Given the description of an element on the screen output the (x, y) to click on. 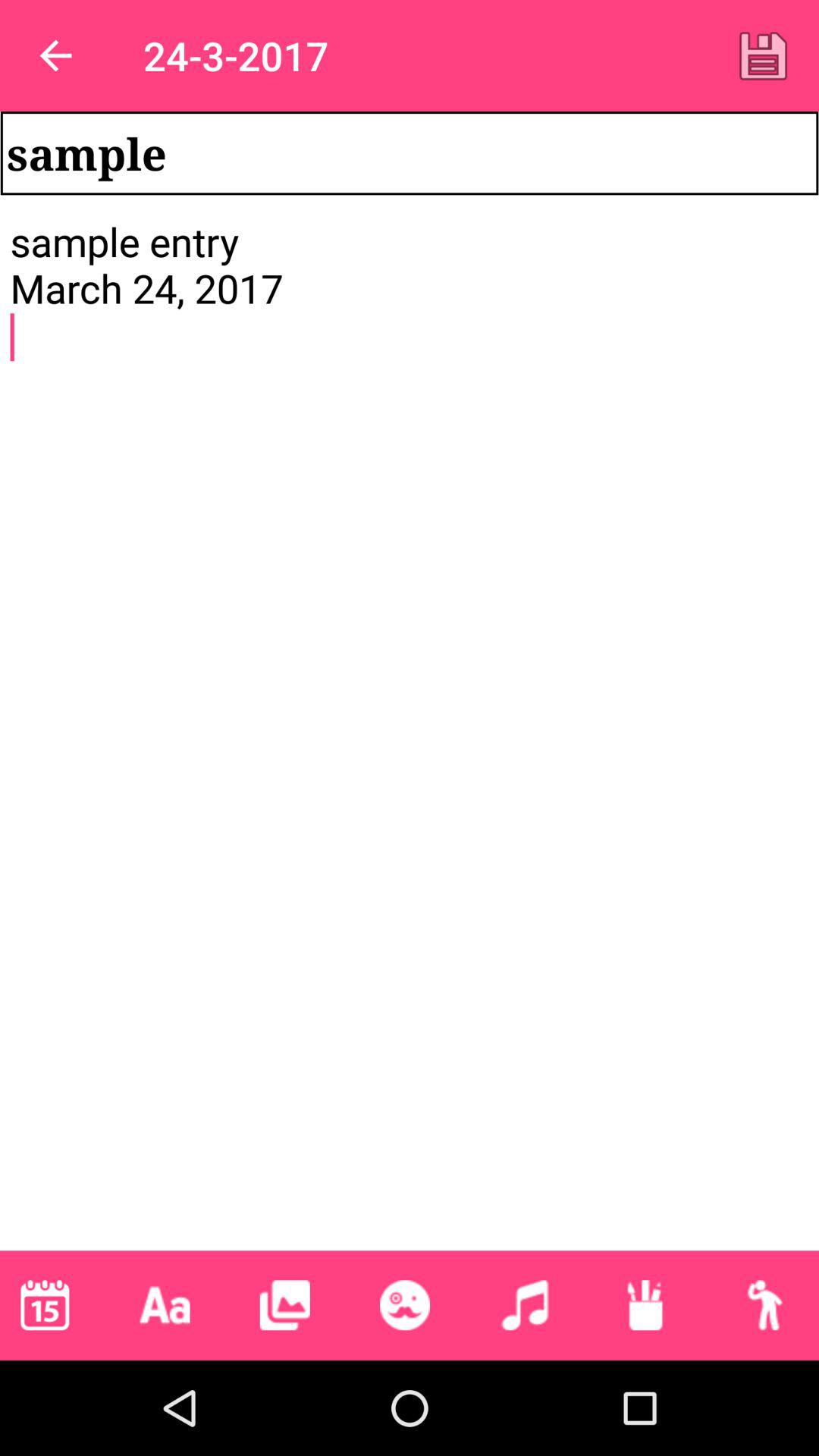
choose the item below the sample entry march icon (284, 1305)
